Given the description of an element on the screen output the (x, y) to click on. 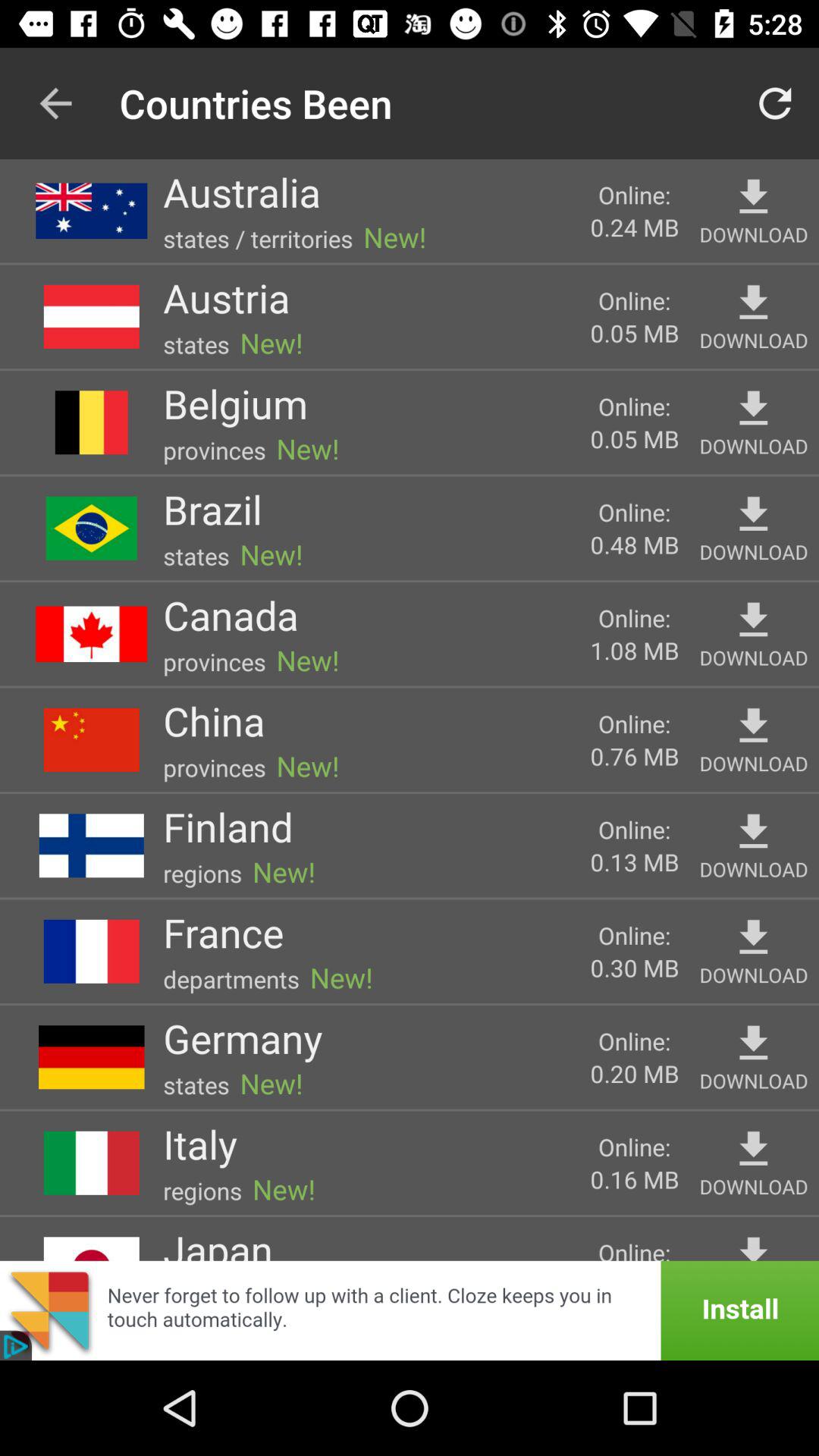
turn off the item next to new! item (258, 238)
